Given the description of an element on the screen output the (x, y) to click on. 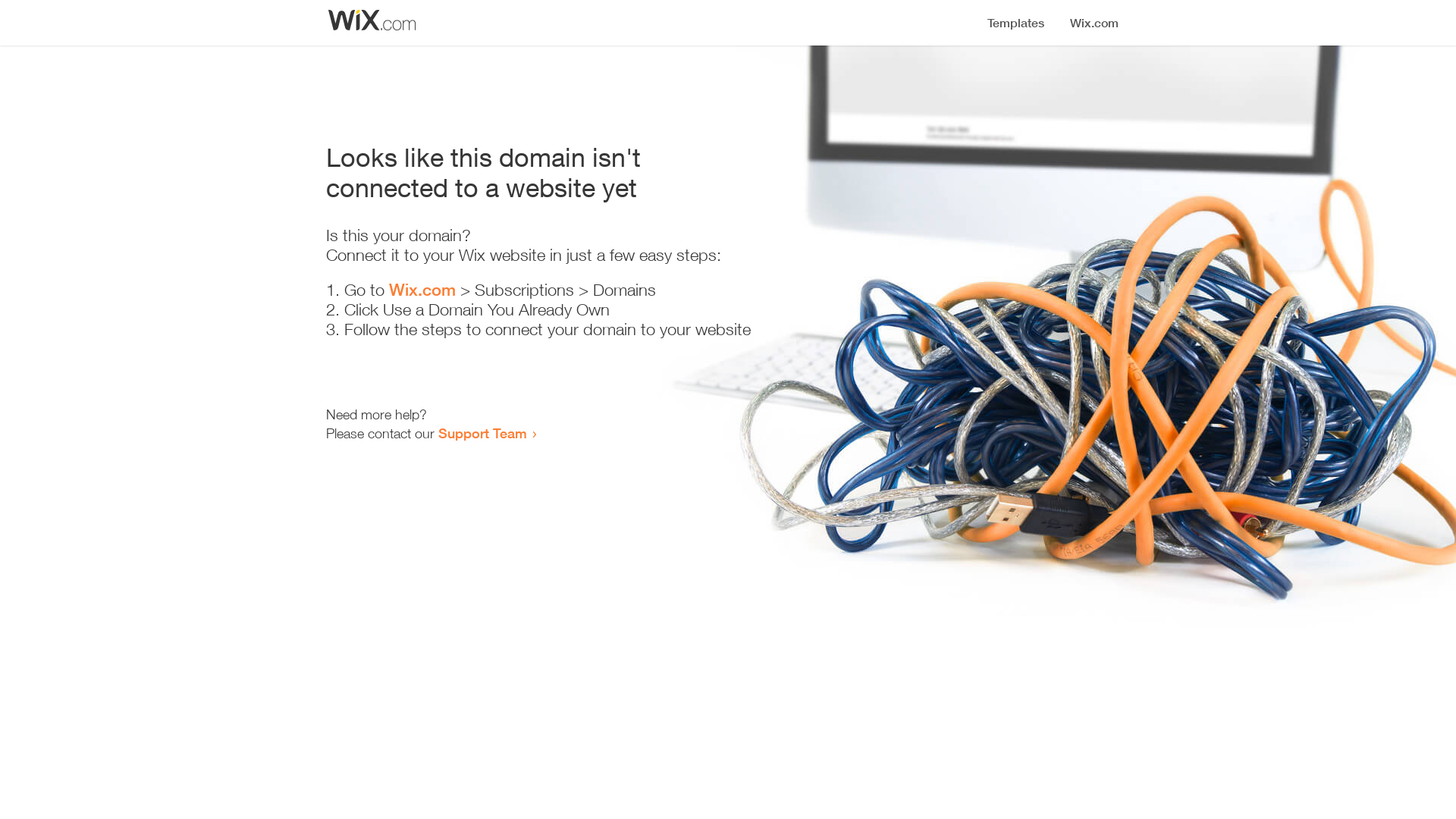
Wix.com Element type: text (422, 289)
Support Team Element type: text (482, 432)
